Given the description of an element on the screen output the (x, y) to click on. 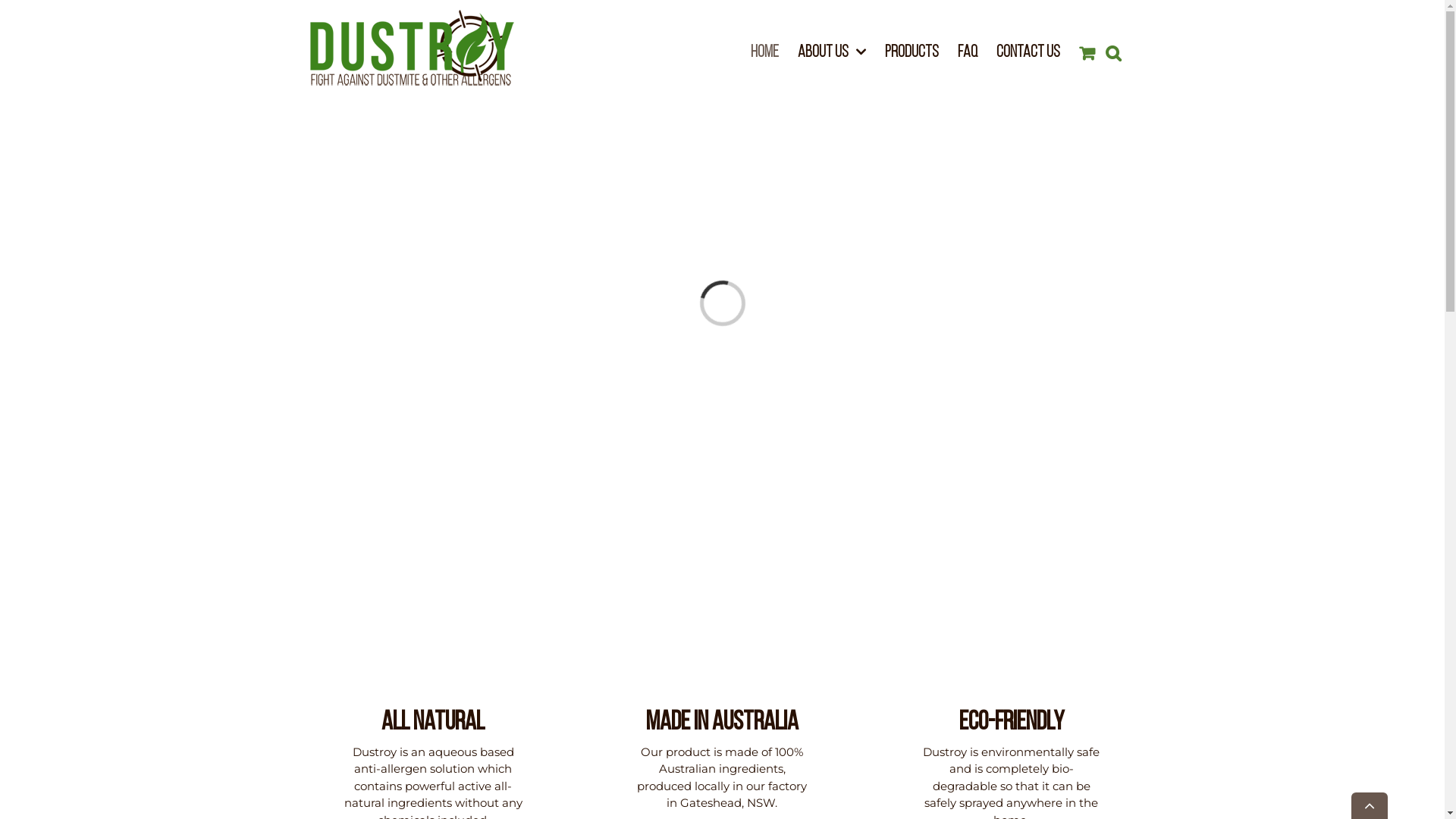
CONTACT US Element type: text (1028, 53)
ABOUT US Element type: text (831, 53)
HOME Element type: text (764, 53)
Search Element type: hover (1112, 53)
PRODUCTS Element type: text (911, 53)
FAQ Element type: text (966, 53)
